Given the description of an element on the screen output the (x, y) to click on. 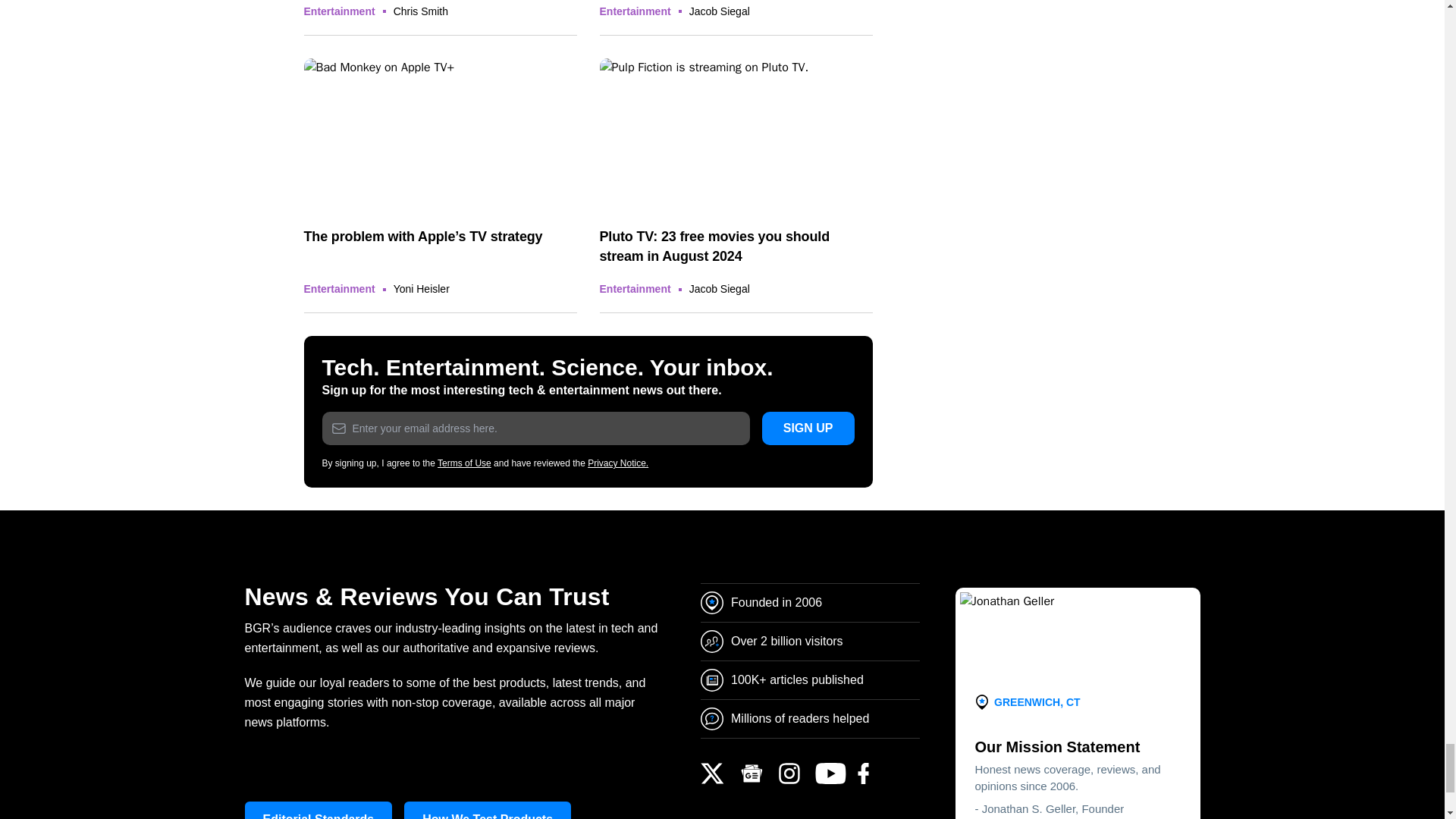
Posts by Yoni Heisler (421, 288)
Posts by Jacob Siegal (718, 10)
Posts by Jacob Siegal (718, 288)
Posts by Chris Smith (420, 10)
